Given the description of an element on the screen output the (x, y) to click on. 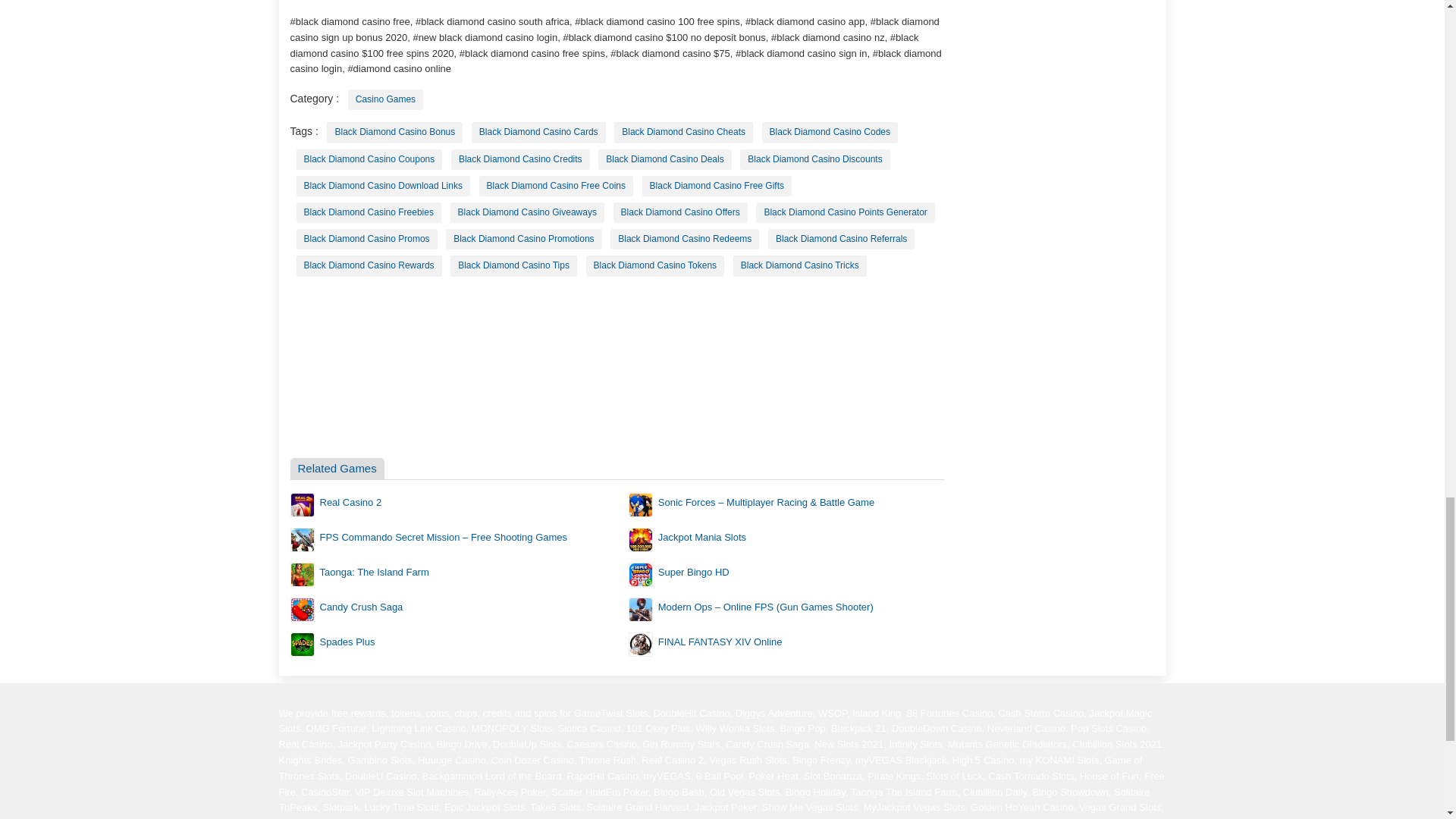
Black Diamond Casino Cards (538, 132)
Black Diamond Casino Codes (829, 132)
Black Diamond Casino Codes (829, 132)
Black Diamond Casino Bonus (394, 132)
Black Diamond Casino Coupons (368, 159)
Black Diamond Casino Cards (538, 132)
Black Diamond Casino Cheats (683, 132)
Casino Games (385, 99)
Casino Games (385, 99)
Black Diamond Casino Cheats (683, 132)
